Given the description of an element on the screen output the (x, y) to click on. 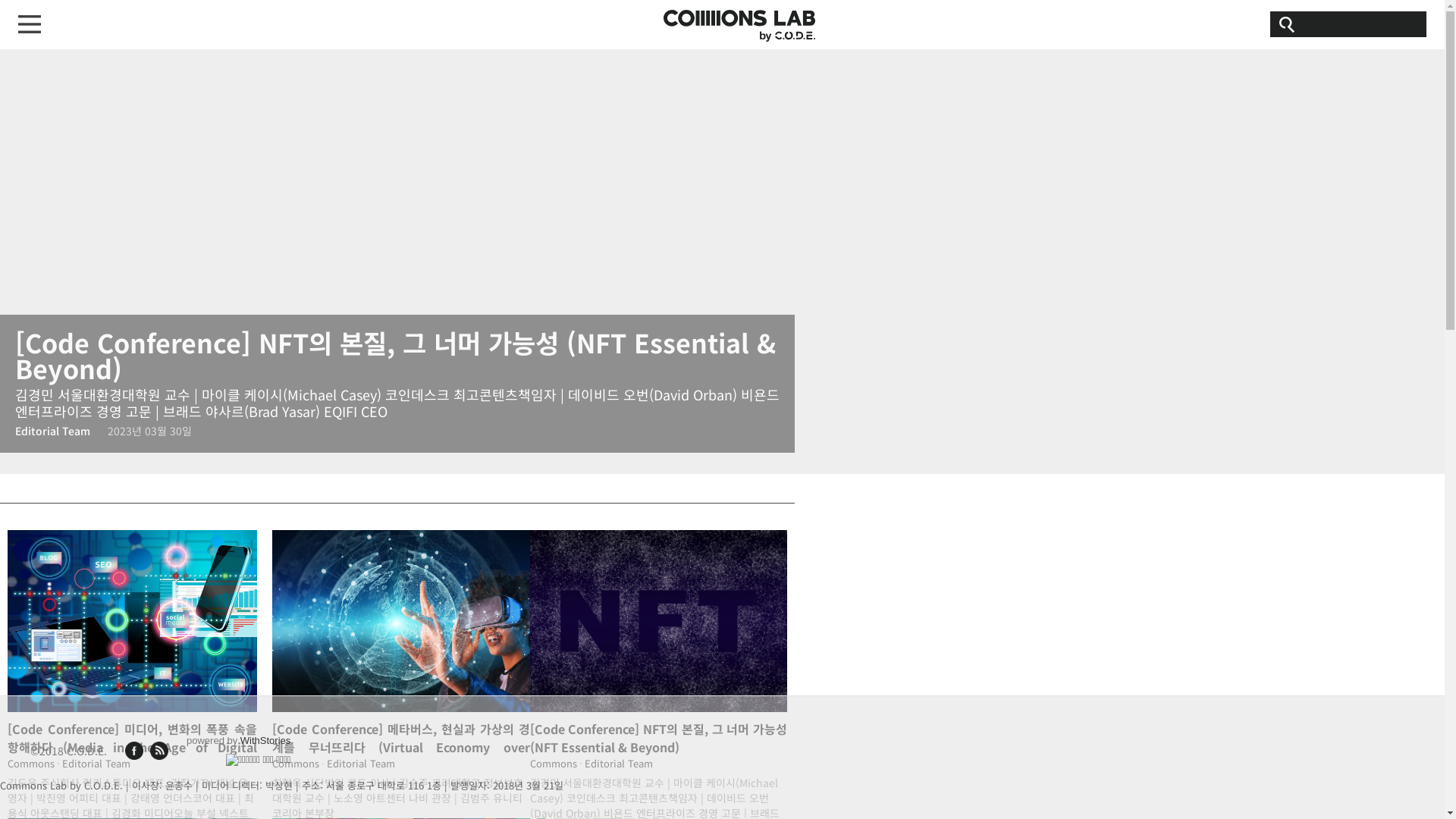
rss Element type: text (159, 750)
WithStories Element type: text (265, 740)
Commons Element type: text (33, 763)
Editorial Team Element type: text (618, 763)
Editorial Team Element type: text (360, 763)
Editorial Team Element type: text (96, 763)
Commons Element type: text (298, 763)
Commons Element type: text (556, 763)
Editorial Team Element type: text (52, 430)
facebook Element type: text (134, 750)
CODE Element type: text (738, 25)
